Given the description of an element on the screen output the (x, y) to click on. 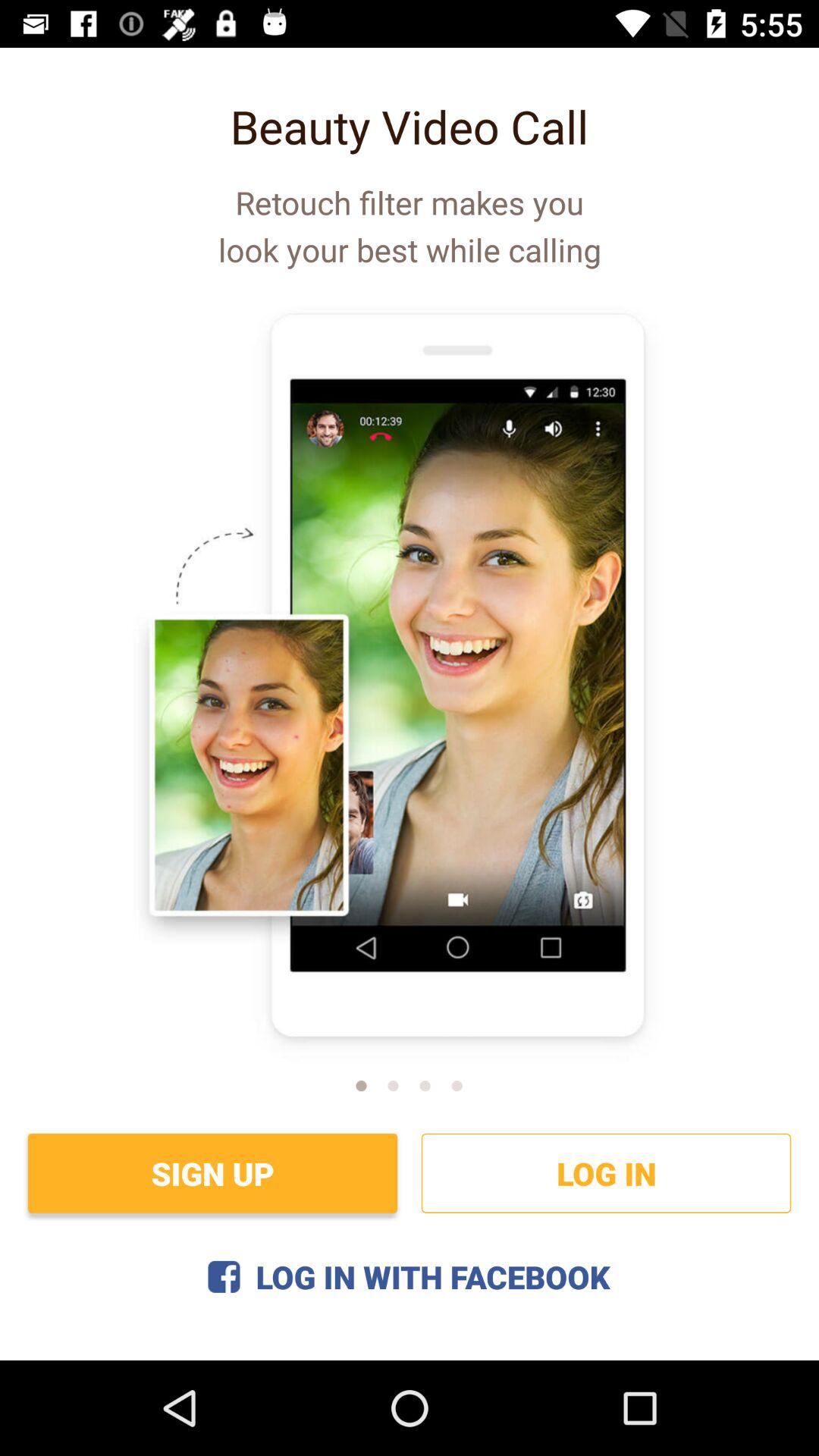
swipe to the sign up item (212, 1173)
